Given the description of an element on the screen output the (x, y) to click on. 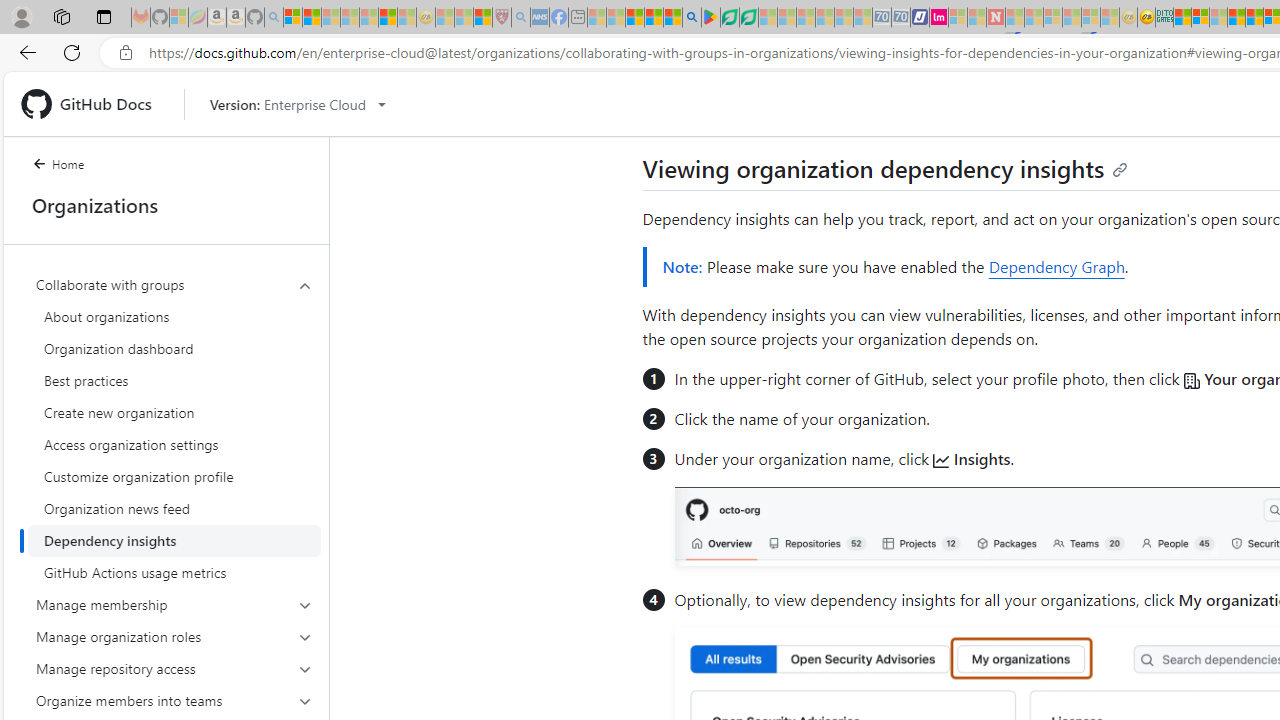
Pets - MSN (654, 17)
Organize members into teams (174, 700)
Organization news feed (174, 508)
Manage repository access (174, 668)
Manage repository access (174, 668)
About organizations (174, 316)
Access organization settings (174, 444)
Manage organization roles (174, 636)
Organizations (166, 205)
